Given the description of an element on the screen output the (x, y) to click on. 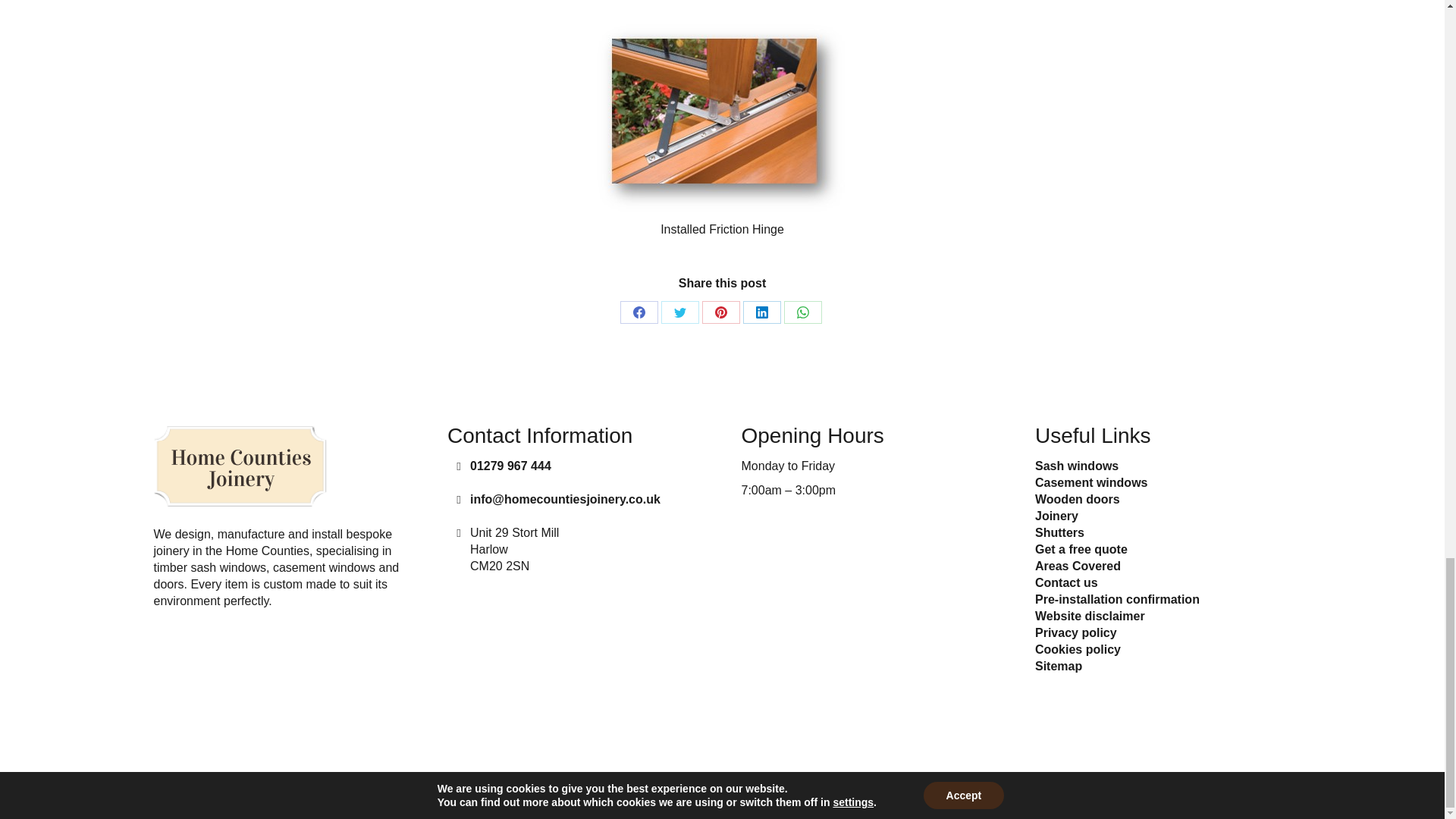
WhatsApp (803, 312)
Send us a message! (565, 499)
Give us a call! (510, 465)
Facebook (639, 312)
Twitter (679, 312)
LinkedIn (761, 312)
Pinterest (720, 312)
